Given the description of an element on the screen output the (x, y) to click on. 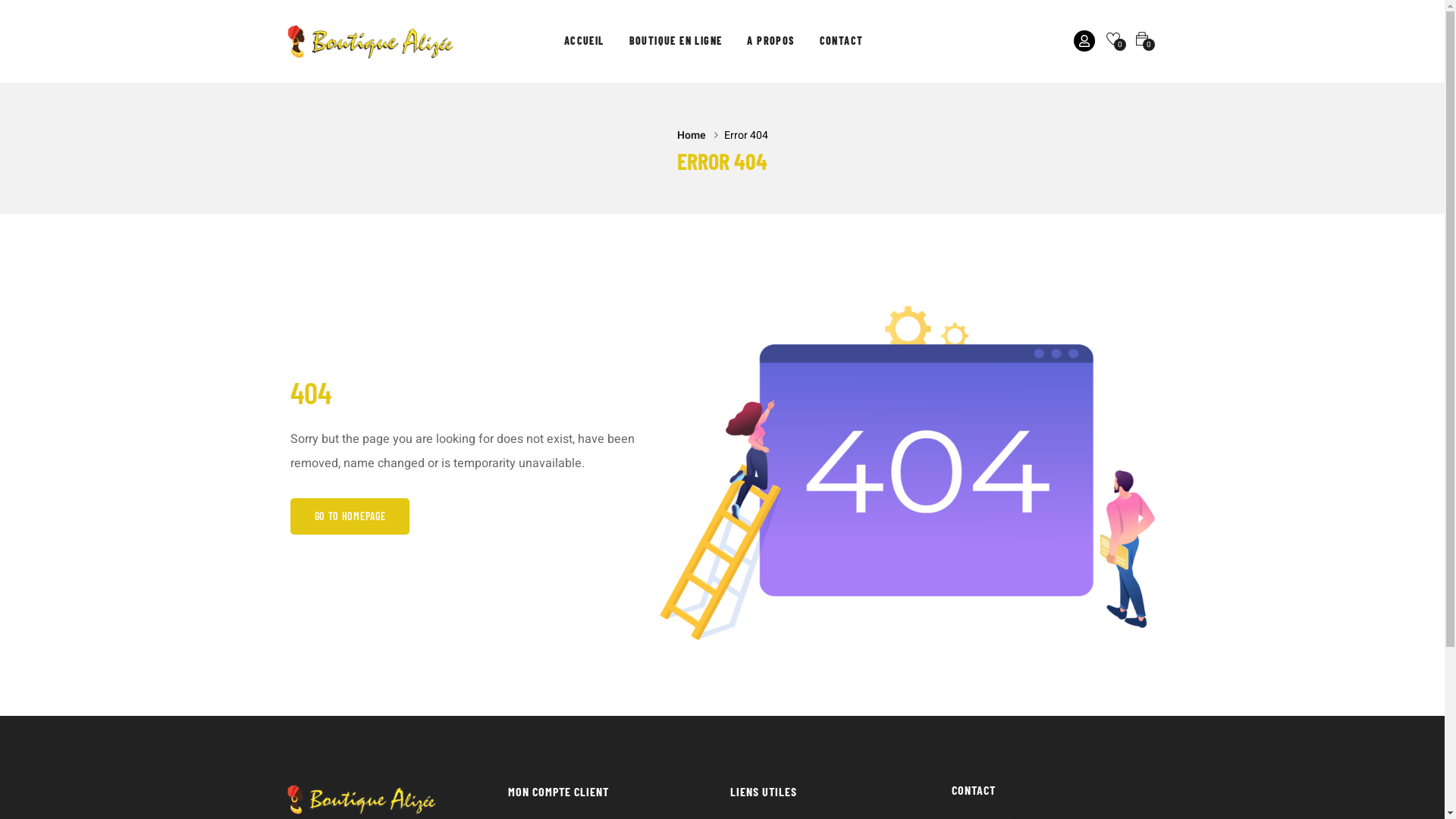
ACCUEIL Element type: text (584, 40)
Home Element type: text (690, 135)
BOUTIQUE EN LIGNE Element type: text (675, 40)
LogoBoutiqueAlizeeHeader Element type: hover (362, 799)
0 Element type: text (1113, 39)
0 Element type: text (1141, 39)
CONTACT Element type: text (841, 40)
GO TO HOMEPAGE Element type: text (349, 516)
A PROPOS Element type: text (769, 40)
